Given the description of an element on the screen output the (x, y) to click on. 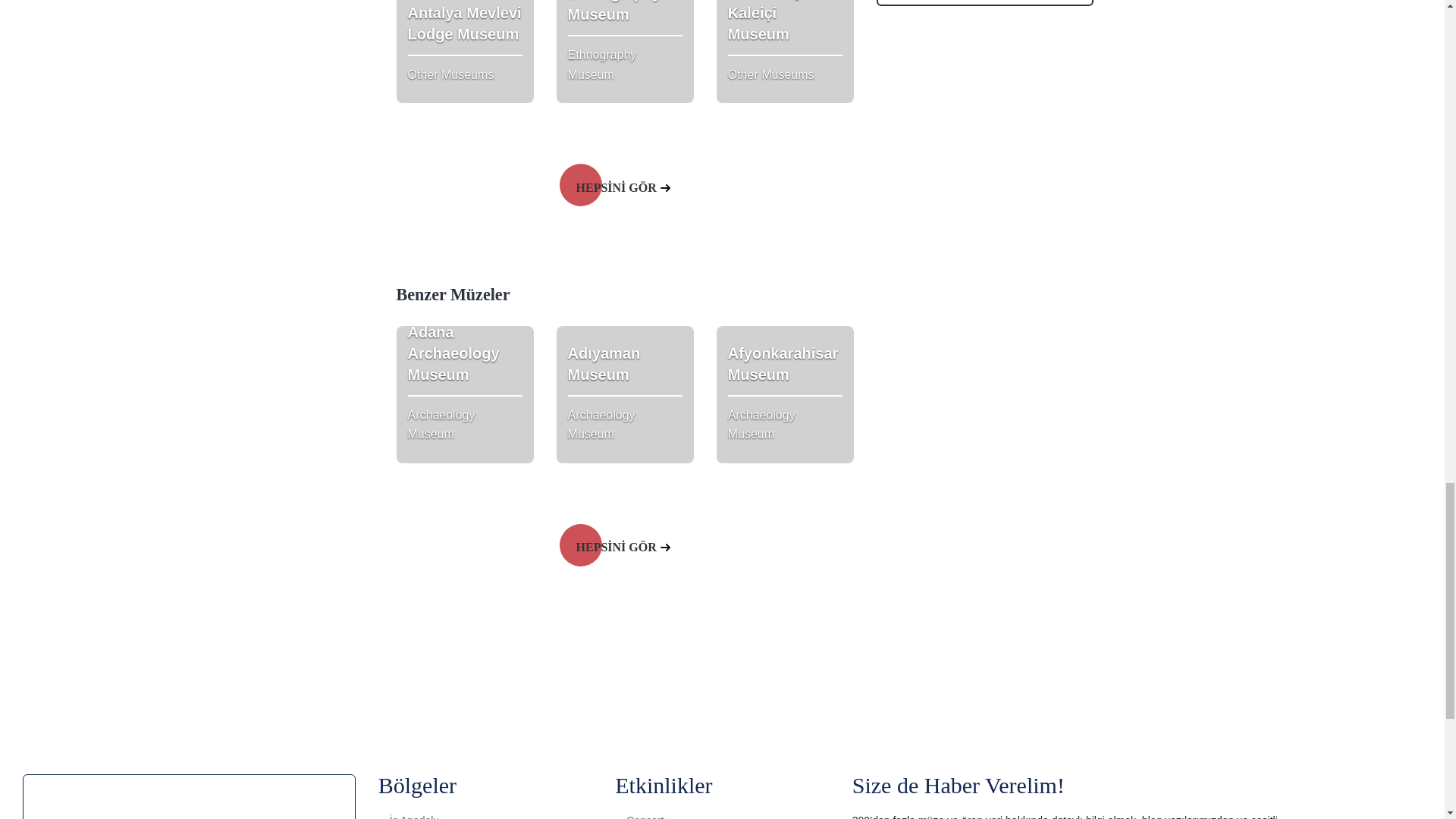
Puan Ver (464, 394)
